Given the description of an element on the screen output the (x, y) to click on. 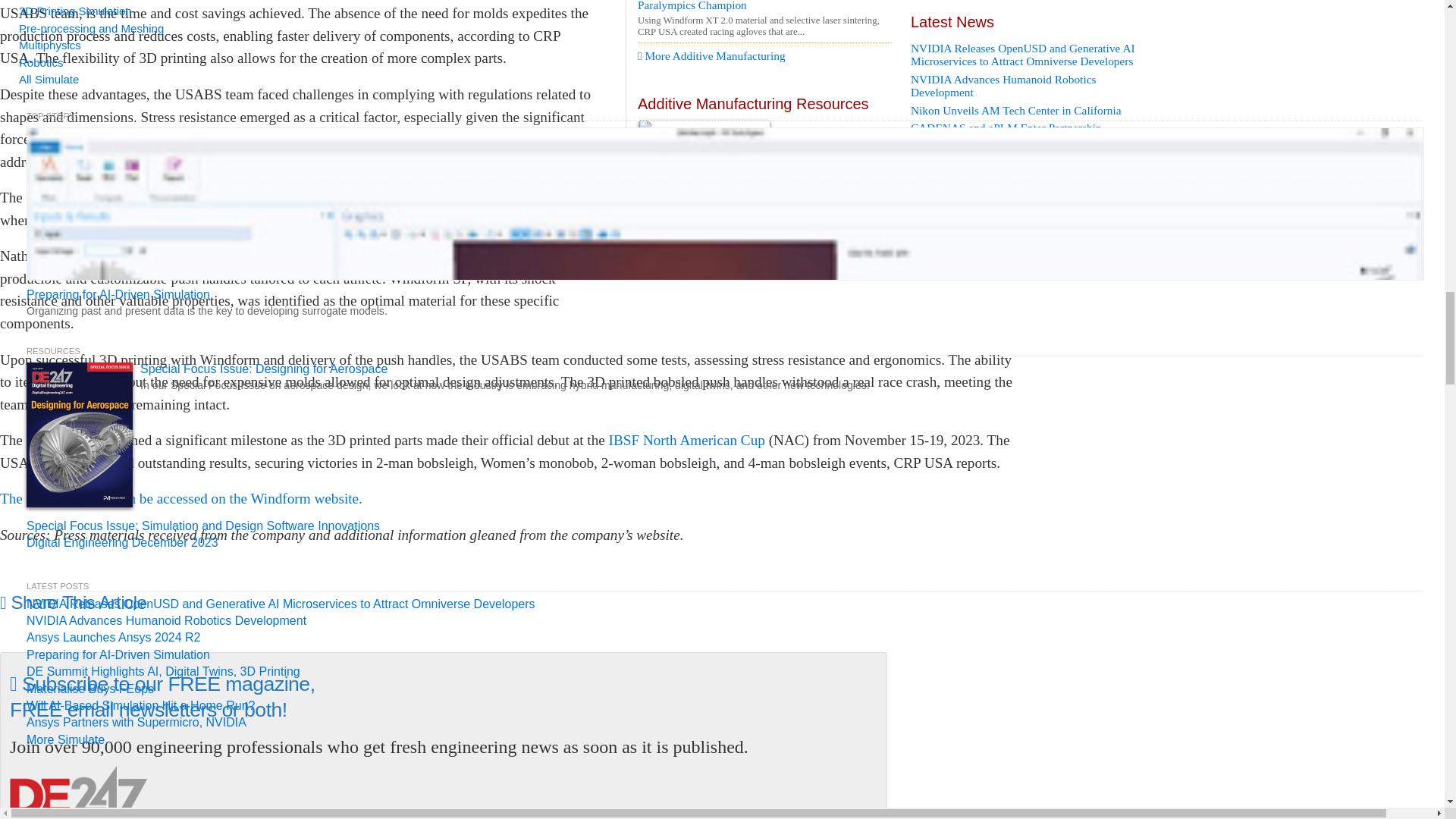
Digital Engineering April 2024 (764, 159)
Special Focus Issue: Additive Manufacturing (764, 229)
